Given the description of an element on the screen output the (x, y) to click on. 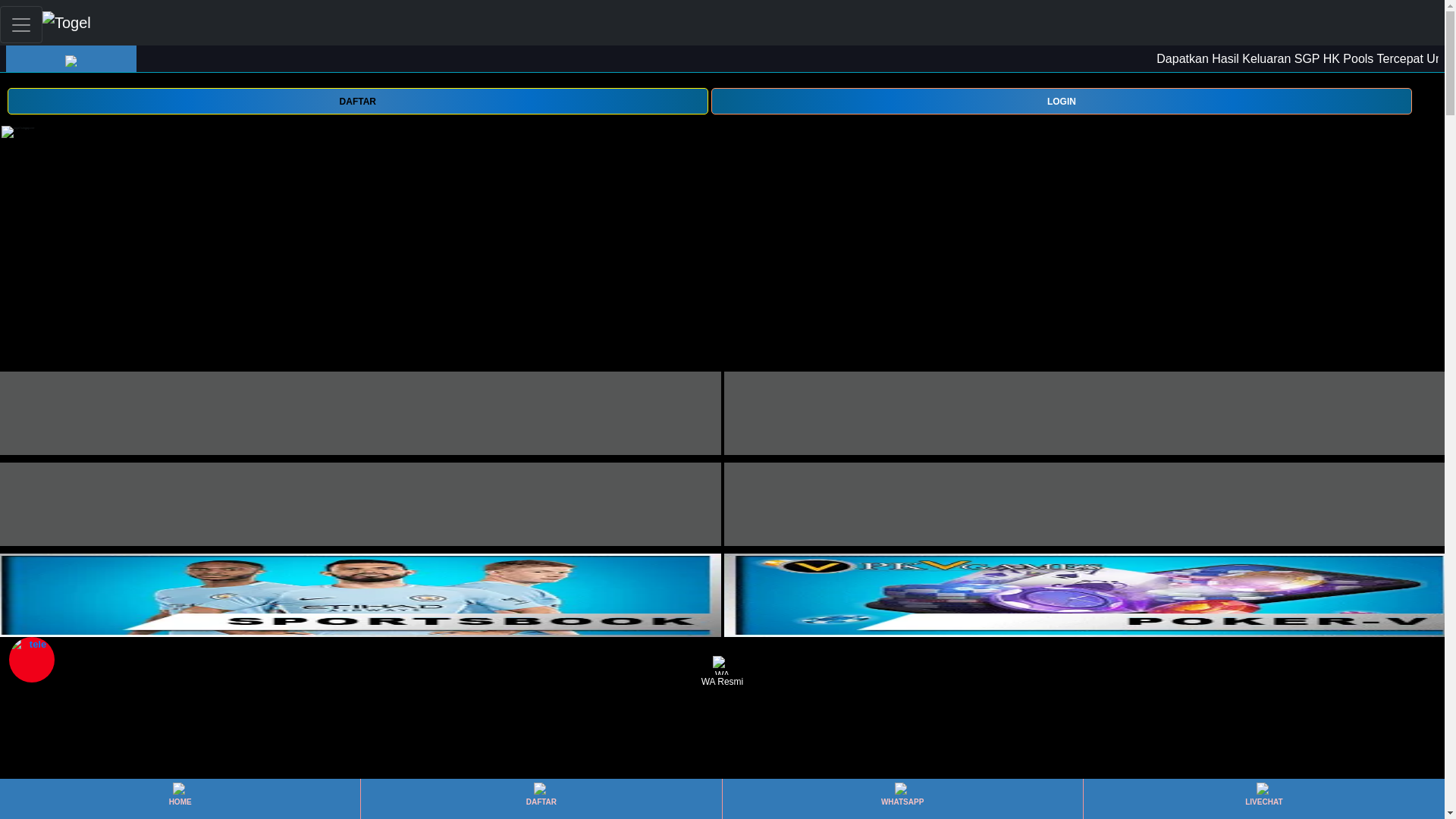
WHATSAPP (901, 798)
DAFTAR (540, 798)
LOGIN (1061, 100)
HOME (179, 798)
DAFTAR (357, 100)
LIVECHAT (1263, 798)
WA Resmi (722, 672)
DAFTAR (357, 100)
LOGIN (1061, 100)
